Given the description of an element on the screen output the (x, y) to click on. 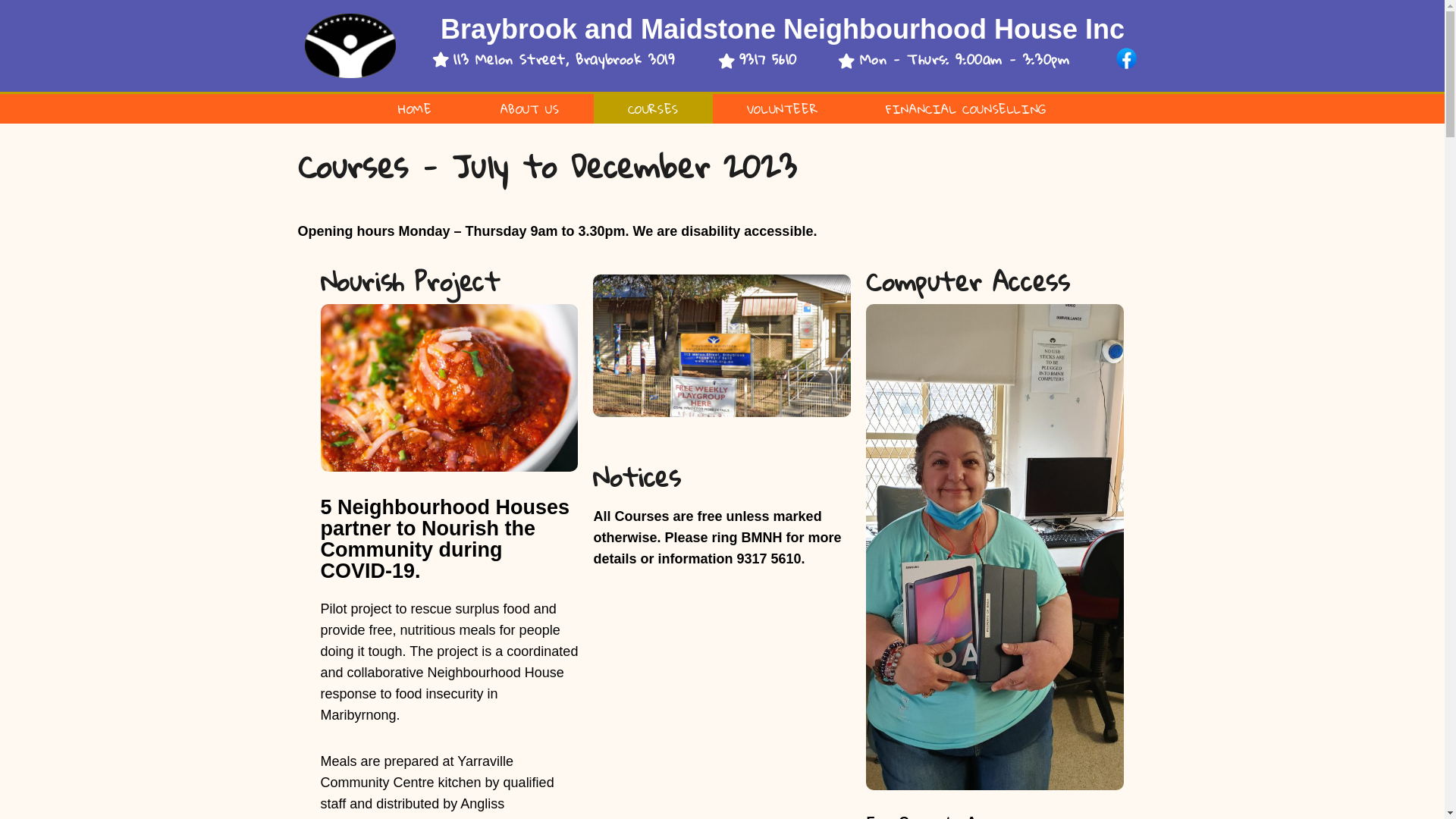
FINANCIAL COUNSELLING Element type: text (965, 108)
HOME Element type: text (414, 108)
Braybrook and Maidstone Neighbourhood House Inc Element type: text (782, 28)
COURSES Element type: text (652, 108)
ABOUT US Element type: text (529, 108)
VOLUNTEER Element type: text (781, 108)
